Given the description of an element on the screen output the (x, y) to click on. 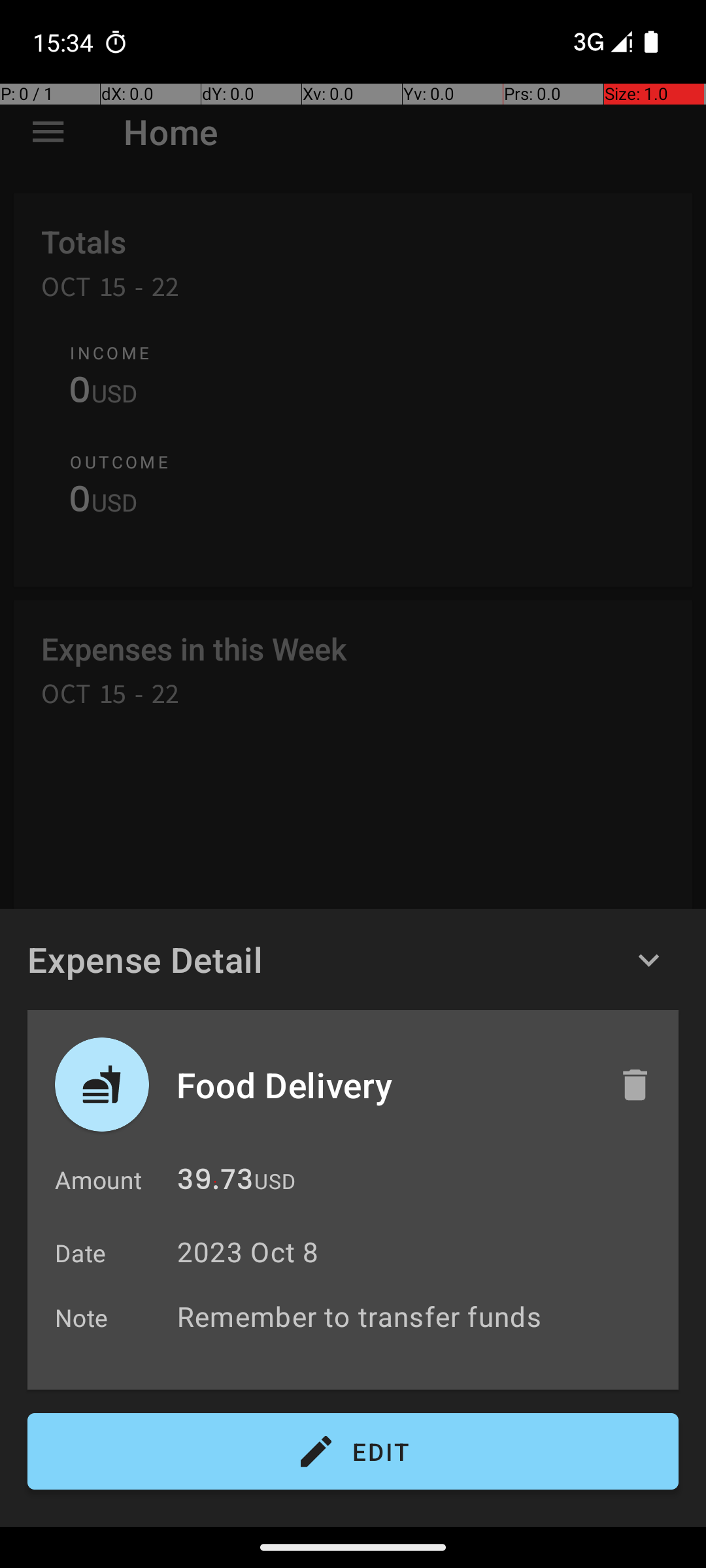
Food Delivery Element type: android.widget.TextView (383, 1084)
39.73 Element type: android.widget.TextView (214, 1182)
